Given the description of an element on the screen output the (x, y) to click on. 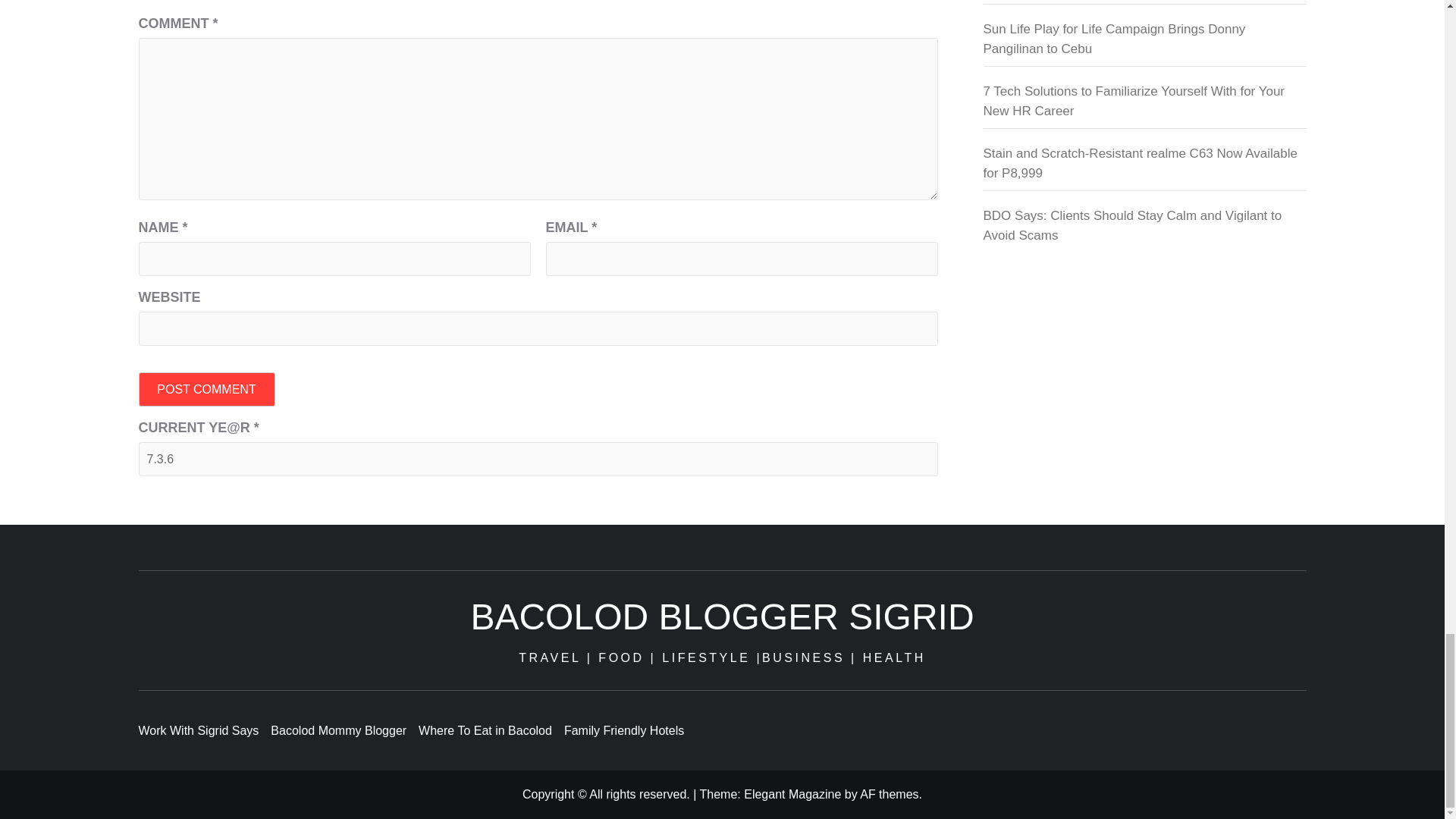
7.3.6 (537, 458)
Post Comment (206, 389)
Work With Sigrid Says (204, 730)
